Given the description of an element on the screen output the (x, y) to click on. 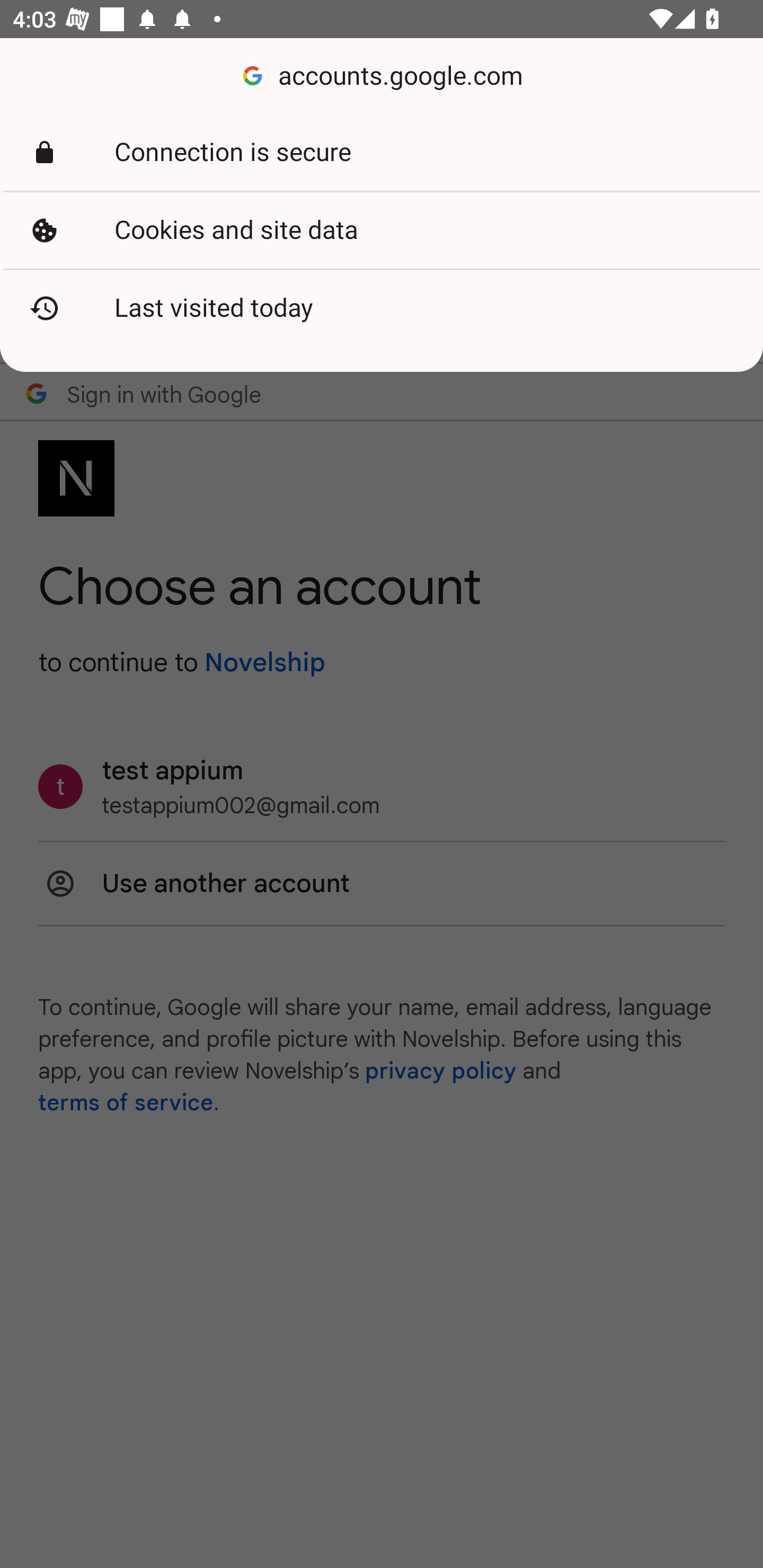
accounts.google.com (381, 75)
Connection is secure (381, 152)
Cookies and site data (381, 230)
Last visited today (381, 307)
